Given the description of an element on the screen output the (x, y) to click on. 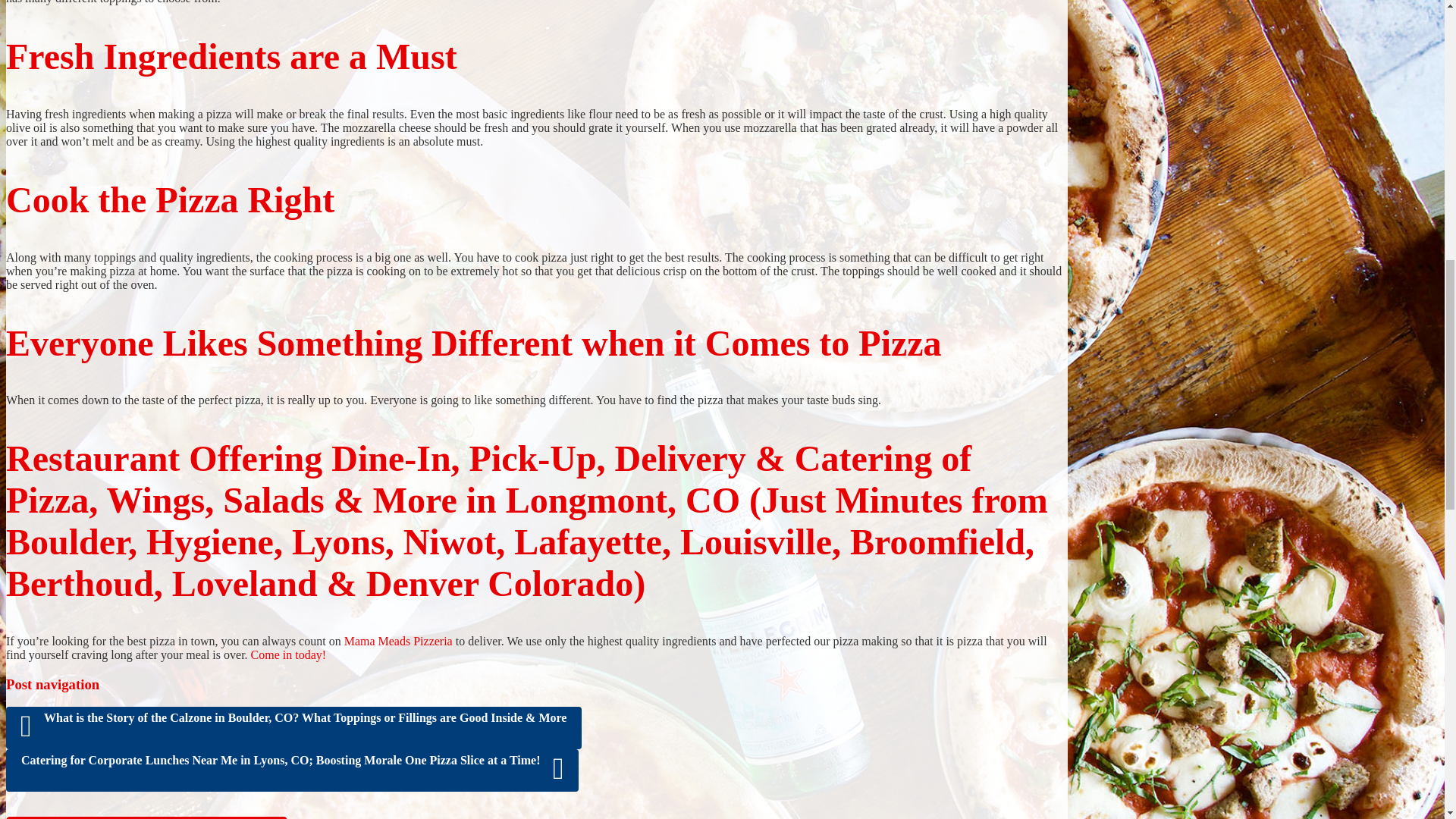
Come in today! (288, 654)
Mama Meads Pizzeria (397, 640)
